Given the description of an element on the screen output the (x, y) to click on. 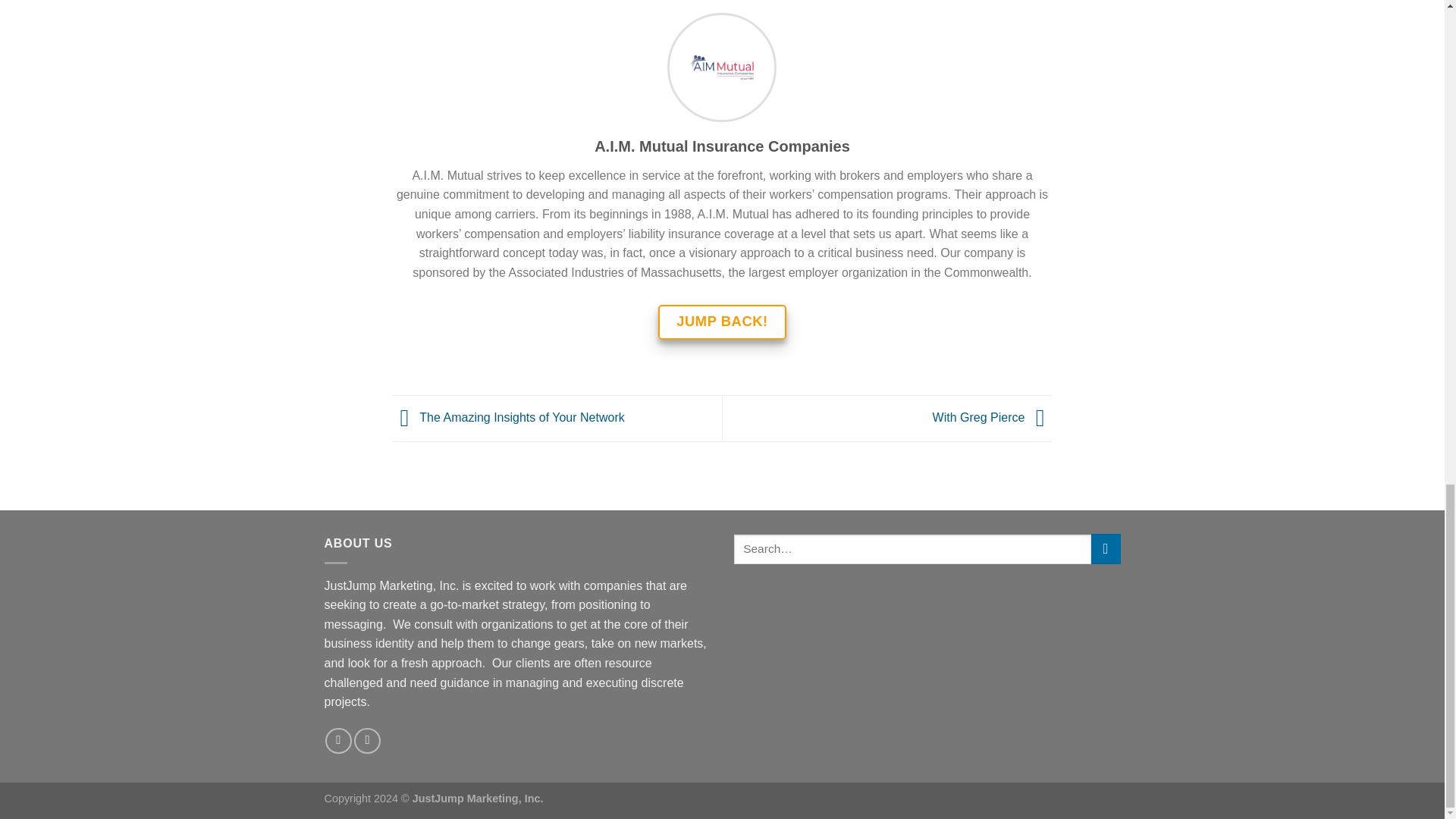
The Amazing Insights of Your Network (508, 417)
Follow on LinkedIn (366, 741)
JUMP BACK! (722, 321)
Send us an email (338, 741)
With Greg Pierce (992, 417)
